Given the description of an element on the screen output the (x, y) to click on. 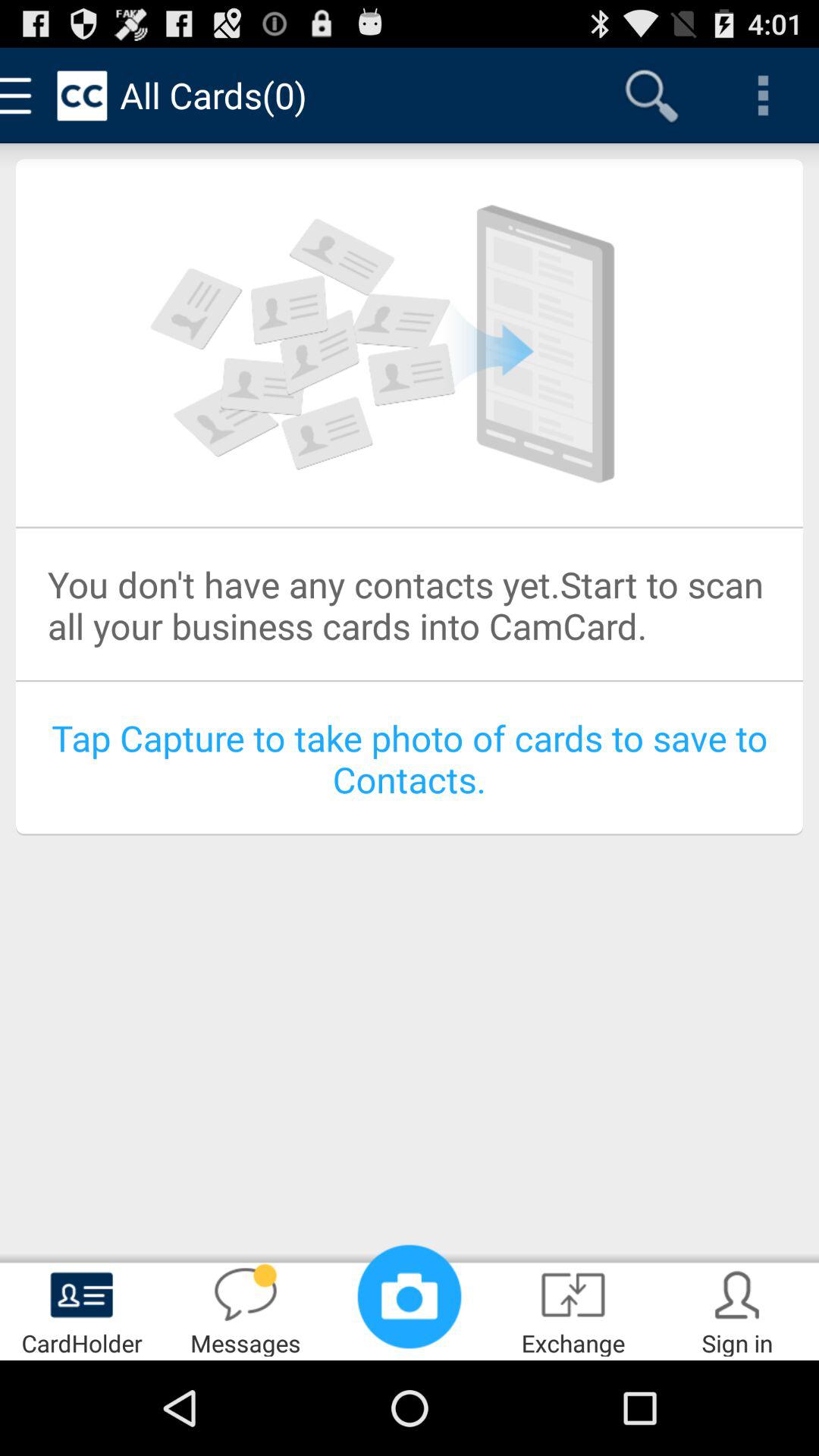
tap icon below the you don t app (409, 758)
